Given the description of an element on the screen output the (x, y) to click on. 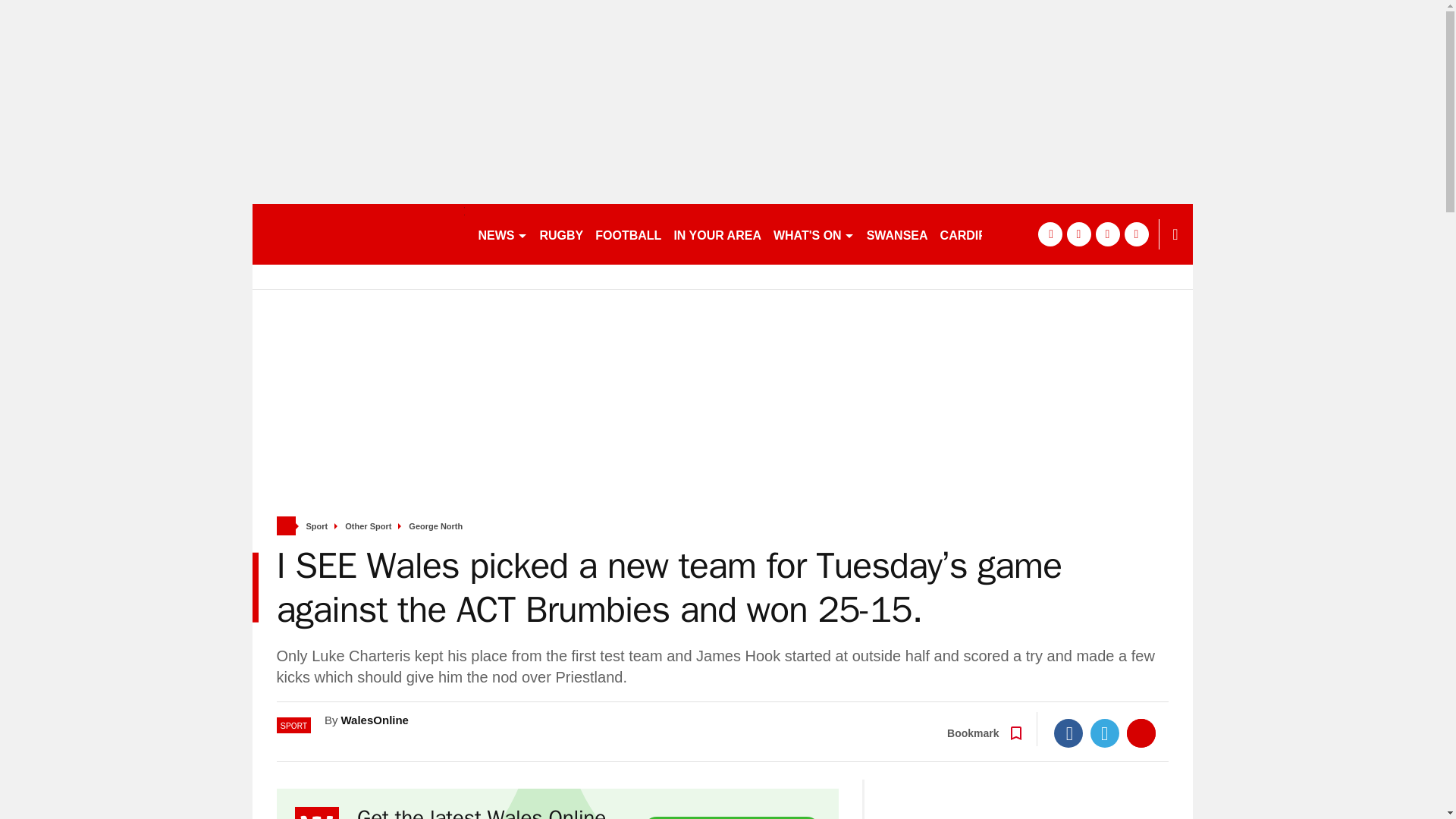
instagram (1136, 233)
pinterest (1106, 233)
facebook (1048, 233)
Twitter (1104, 733)
SWANSEA (897, 233)
twitter (1077, 233)
WHAT'S ON (813, 233)
NEWS (501, 233)
walesonline (357, 233)
IN YOUR AREA (716, 233)
RUGBY (561, 233)
Facebook (1068, 733)
FOOTBALL (627, 233)
